Given the description of an element on the screen output the (x, y) to click on. 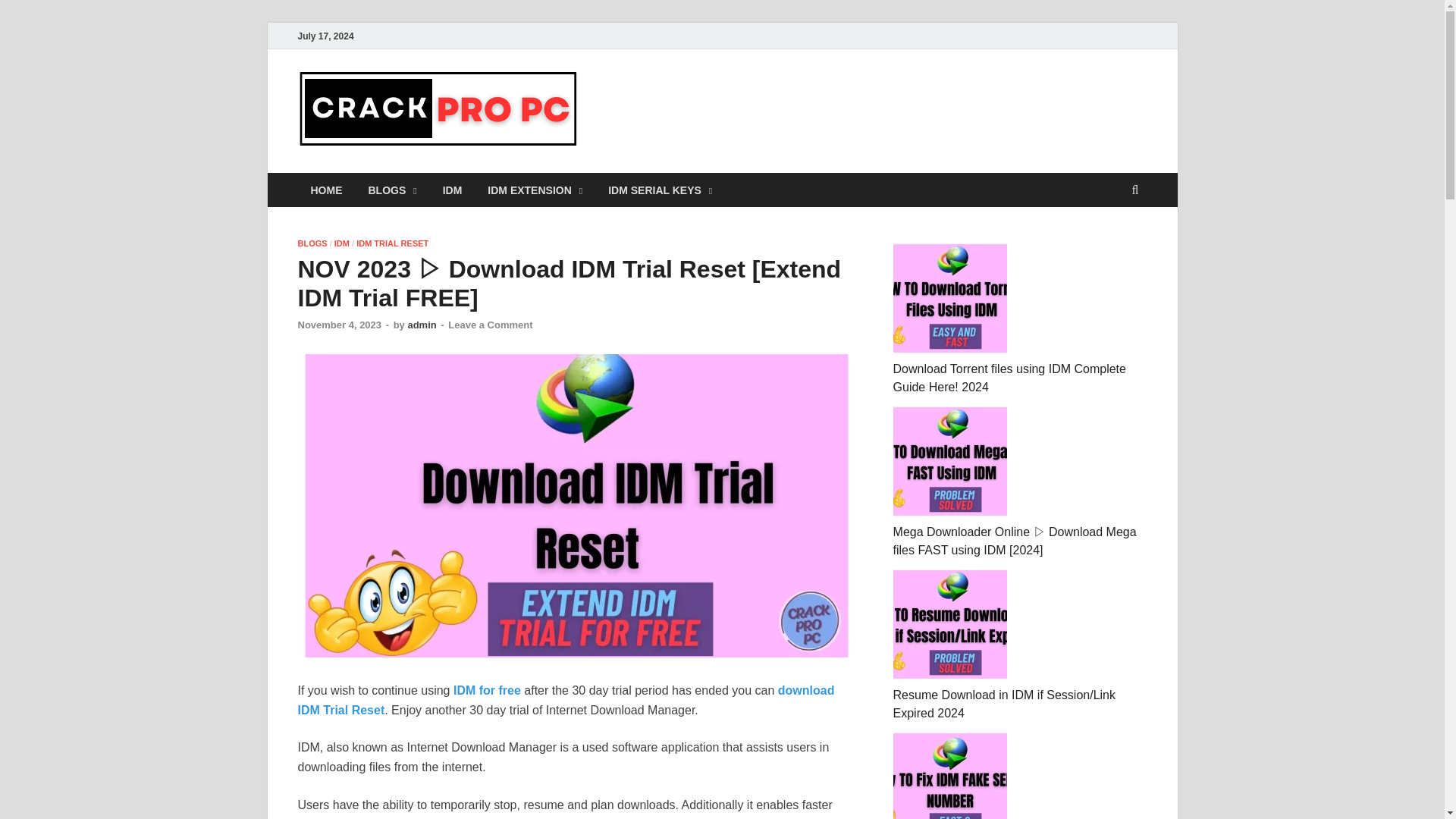
BLOGS (392, 189)
download IDM Trial Reset (565, 699)
admin (421, 324)
Leave a Comment (490, 324)
IDM EXTENSION (534, 189)
IDM TRIAL RESET (392, 243)
IDM for free (486, 689)
HOME (326, 189)
Crack Pro PC (675, 100)
IDM (341, 243)
November 4, 2023 (339, 324)
IDM SERIAL KEYS (660, 189)
BLOGS (311, 243)
IDM (452, 189)
